Given the description of an element on the screen output the (x, y) to click on. 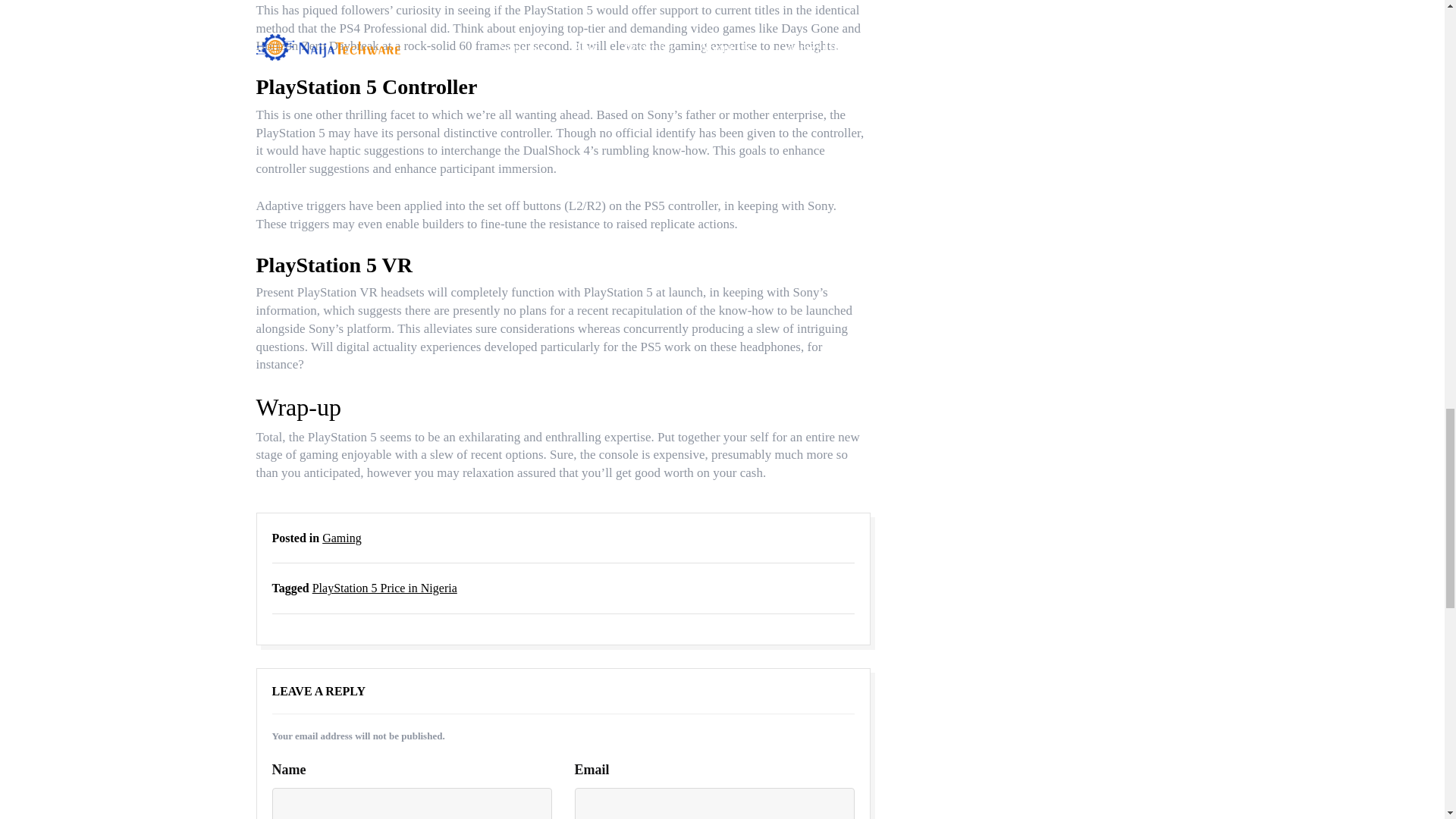
Gaming (341, 537)
PlayStation 5 Price in Nigeria (385, 587)
